Given the description of an element on the screen output the (x, y) to click on. 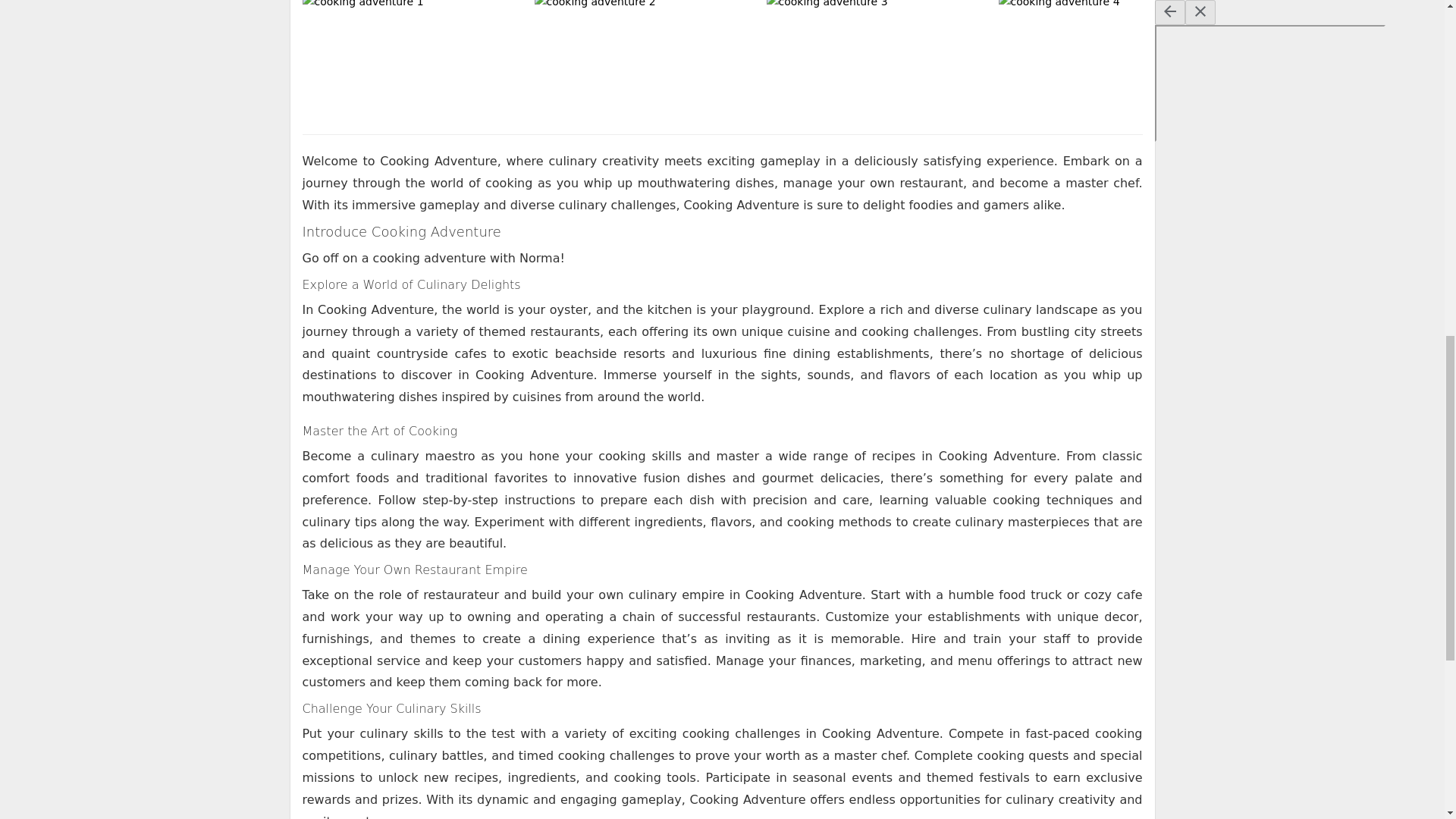
Cooking Adventure APK v64602 4 (1110, 59)
Cooking Adventure APK v64602 2 (646, 59)
Cooking Adventure APK v64602 1 (413, 59)
Cooking Adventure APK v64602 3 (877, 59)
